Given the description of an element on the screen output the (x, y) to click on. 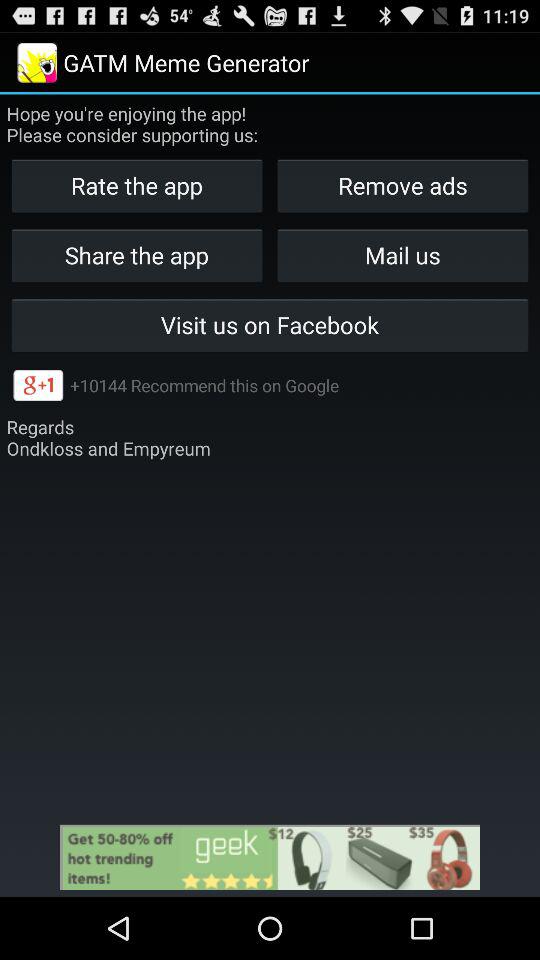
turn off icon to the right of the rate the app (402, 185)
